Given the description of an element on the screen output the (x, y) to click on. 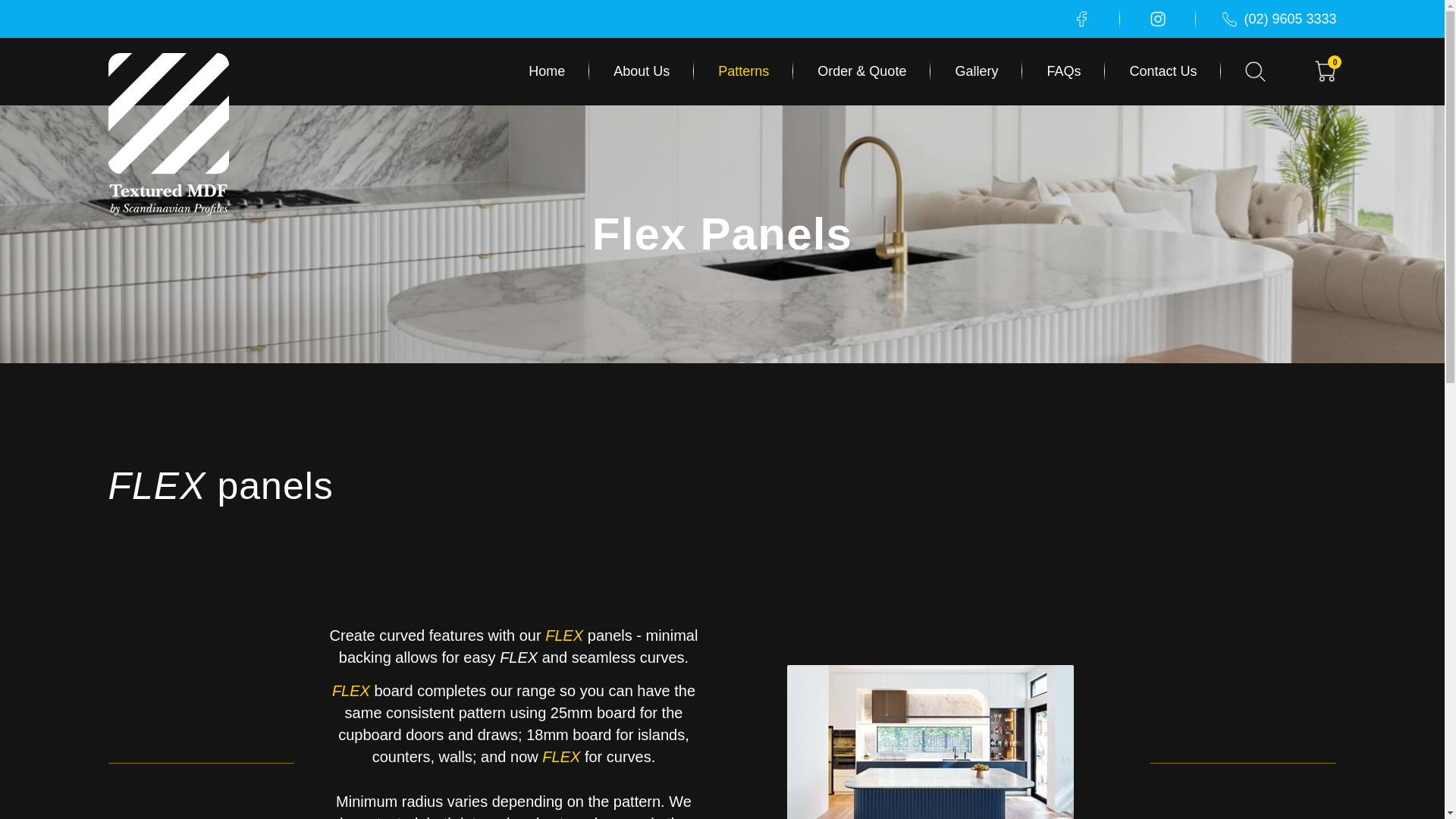
Contact Us (1163, 71)
Patterns (743, 71)
FAQs (1063, 71)
0 (1325, 70)
FLEX (566, 635)
Home (558, 71)
FLEX (352, 690)
About Us (641, 71)
FLEX (563, 756)
Gallery (976, 71)
